Given the description of an element on the screen output the (x, y) to click on. 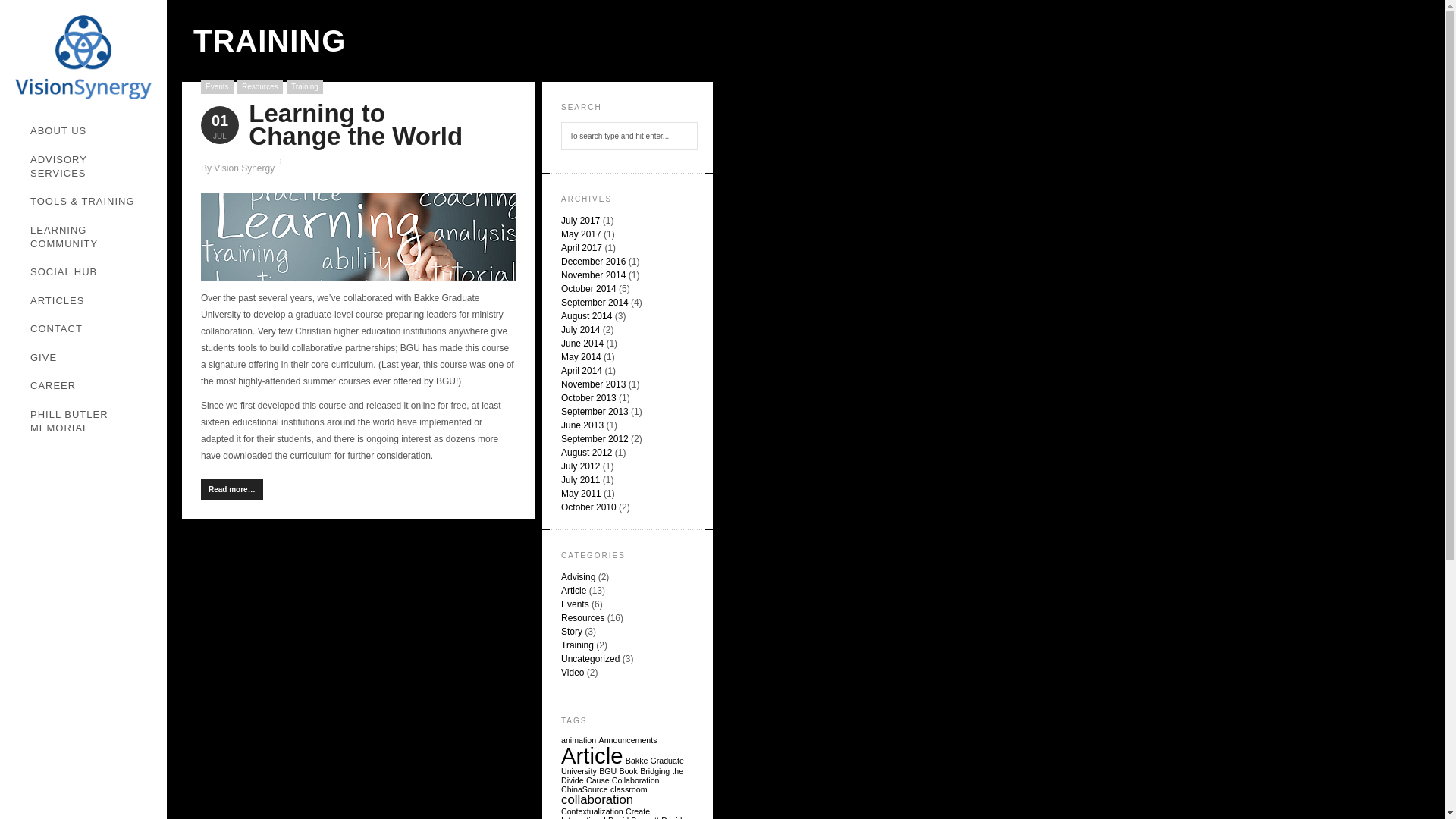
August 2014 (585, 316)
Permanent Link to Learning to Change the World (355, 124)
Resources (259, 86)
PHILL BUTLER MEMORIAL (90, 421)
Learning to Change the World (355, 124)
GIVE (90, 357)
May 2017 (580, 234)
ARTICLES (90, 300)
July 2017 (579, 220)
Training (304, 86)
To search type and hit enter... (628, 135)
July 2014 (579, 329)
ABOUT US (90, 131)
April 2017 (581, 247)
ADVISORY SERVICES (90, 166)
